Given the description of an element on the screen output the (x, y) to click on. 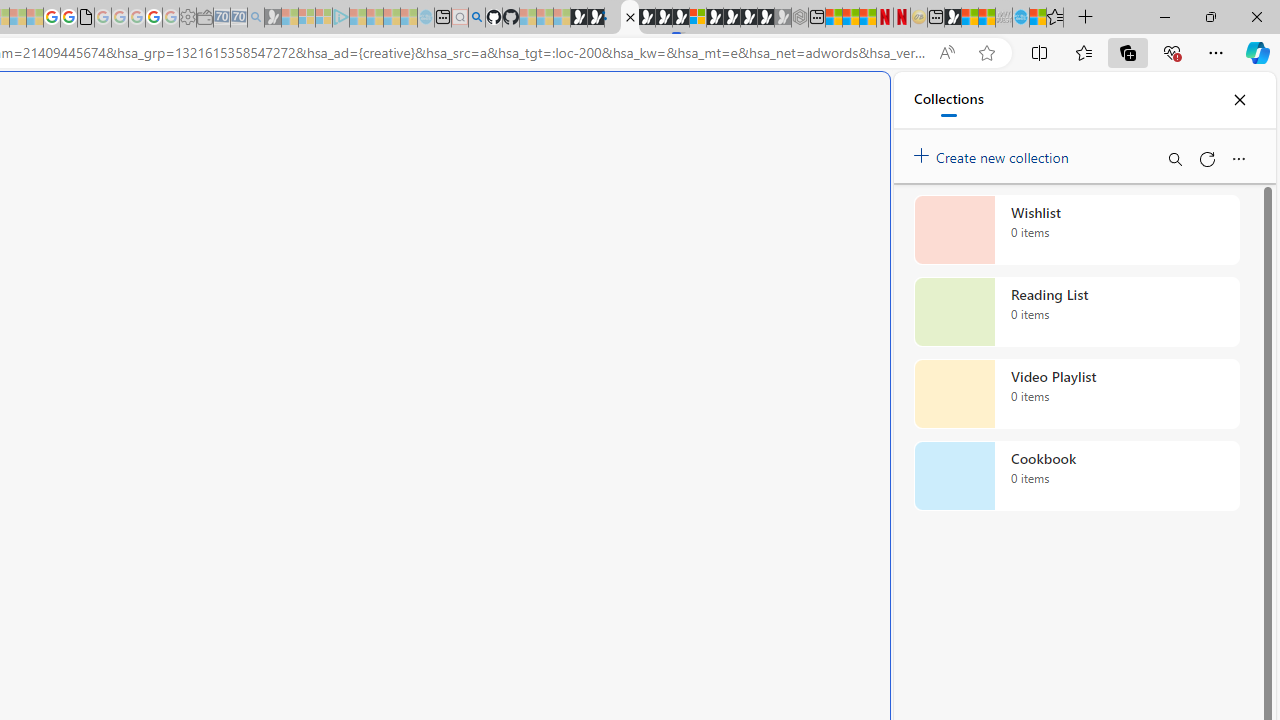
Frequently visited (418, 265)
Tabs you've opened (276, 265)
github - Search (476, 17)
Reading List collection, 0 items (1076, 312)
Earth has six continents not seven, radical new study claims (986, 17)
